Given the description of an element on the screen output the (x, y) to click on. 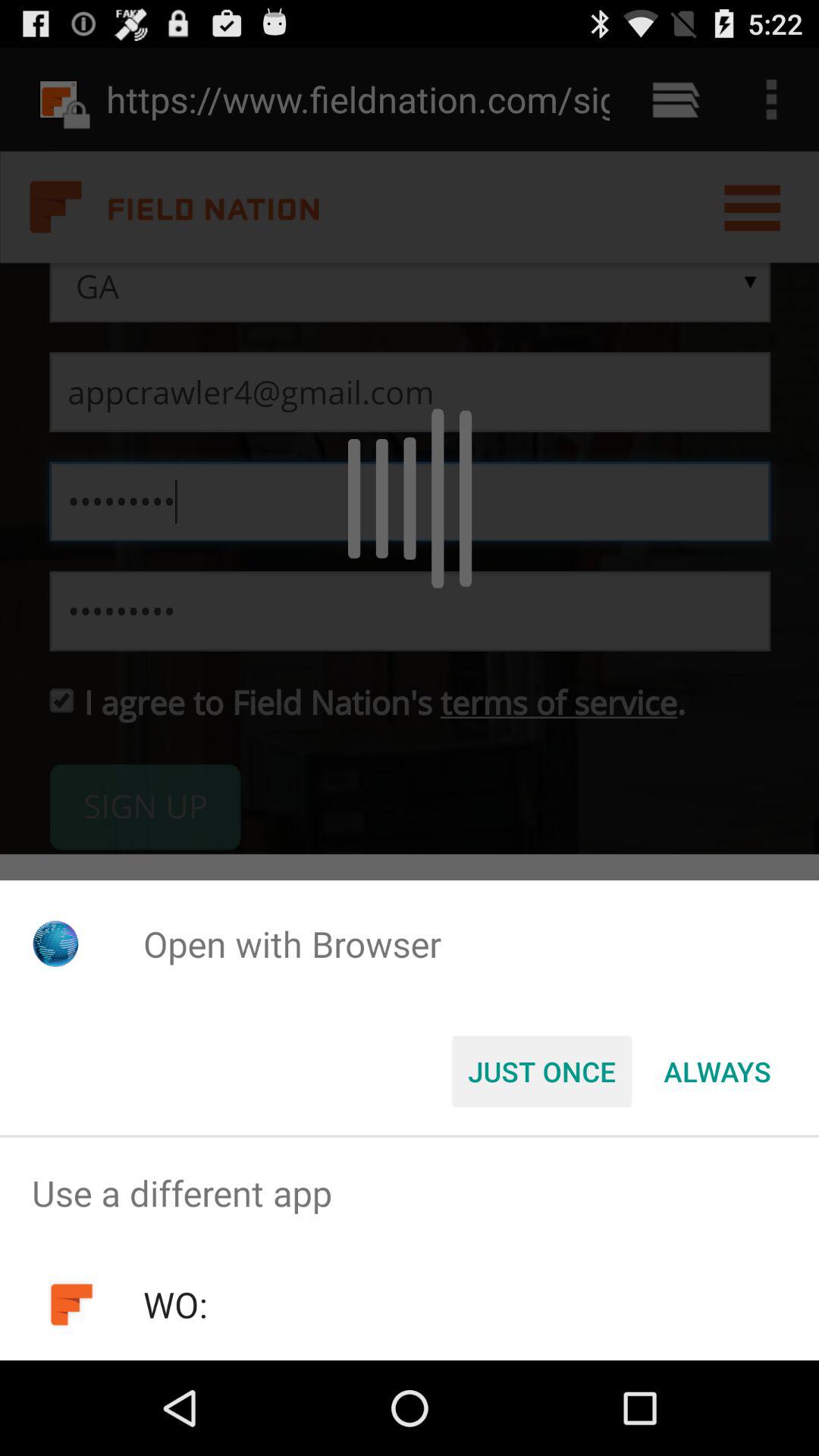
select item to the right of just once (717, 1071)
